Given the description of an element on the screen output the (x, y) to click on. 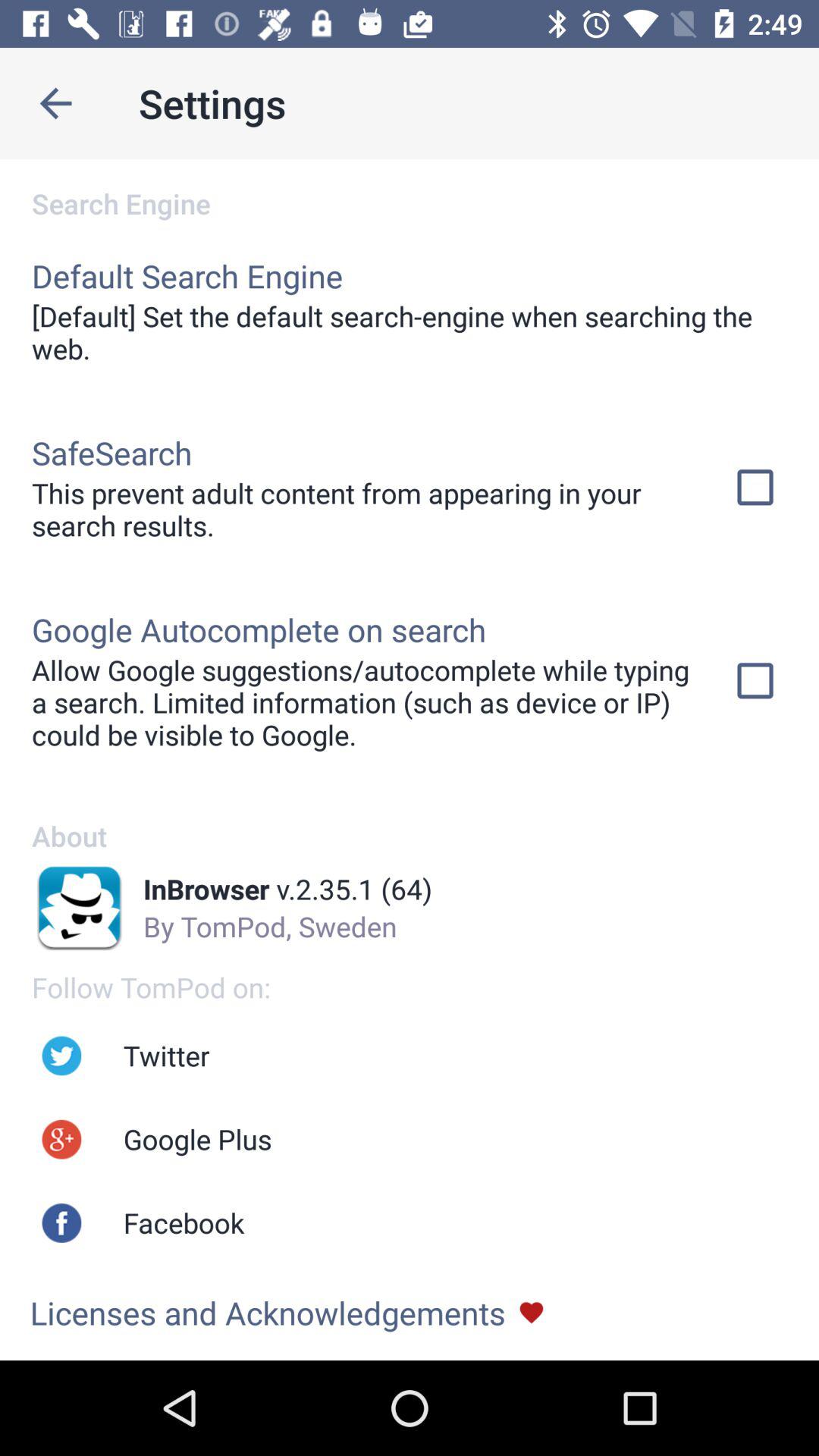
press icon to the left of the   settings (55, 103)
